Given the description of an element on the screen output the (x, y) to click on. 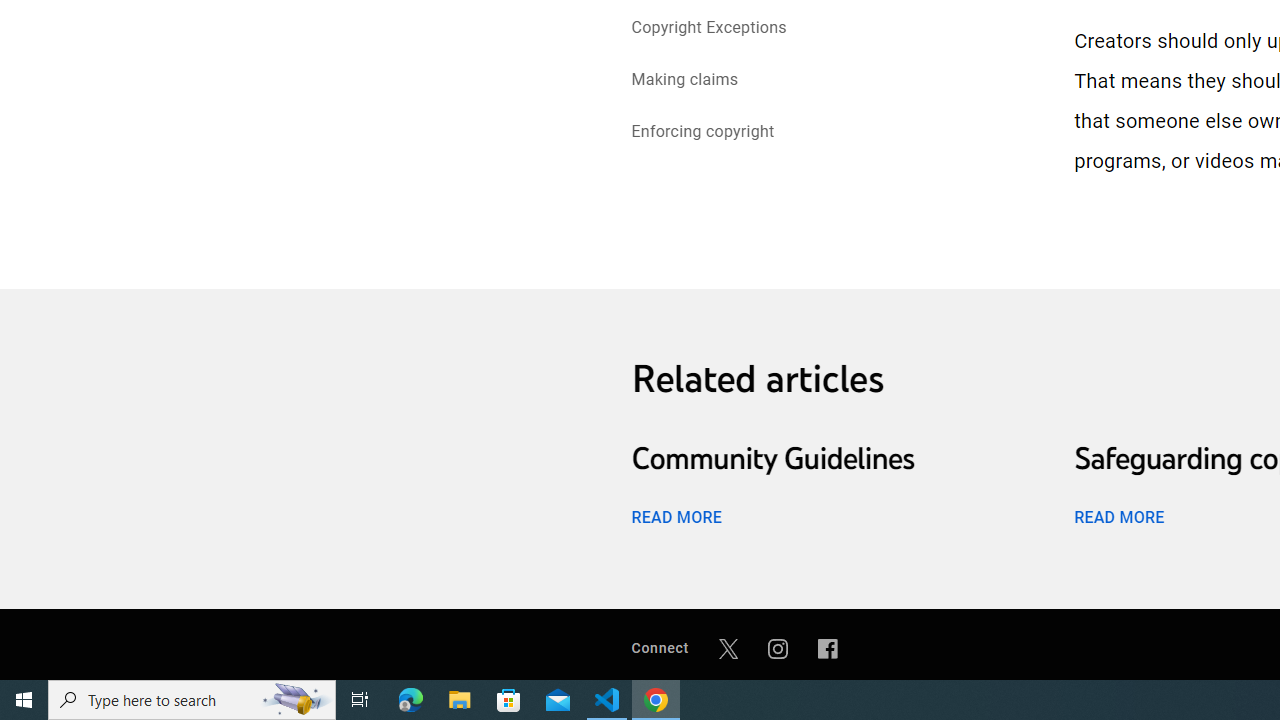
READ MORE (1118, 516)
Copyright Exceptions (709, 28)
Instagram (778, 648)
Making claims (684, 81)
Twitter (728, 648)
Enforcing copyright (702, 133)
Facebook (828, 648)
